Given the description of an element on the screen output the (x, y) to click on. 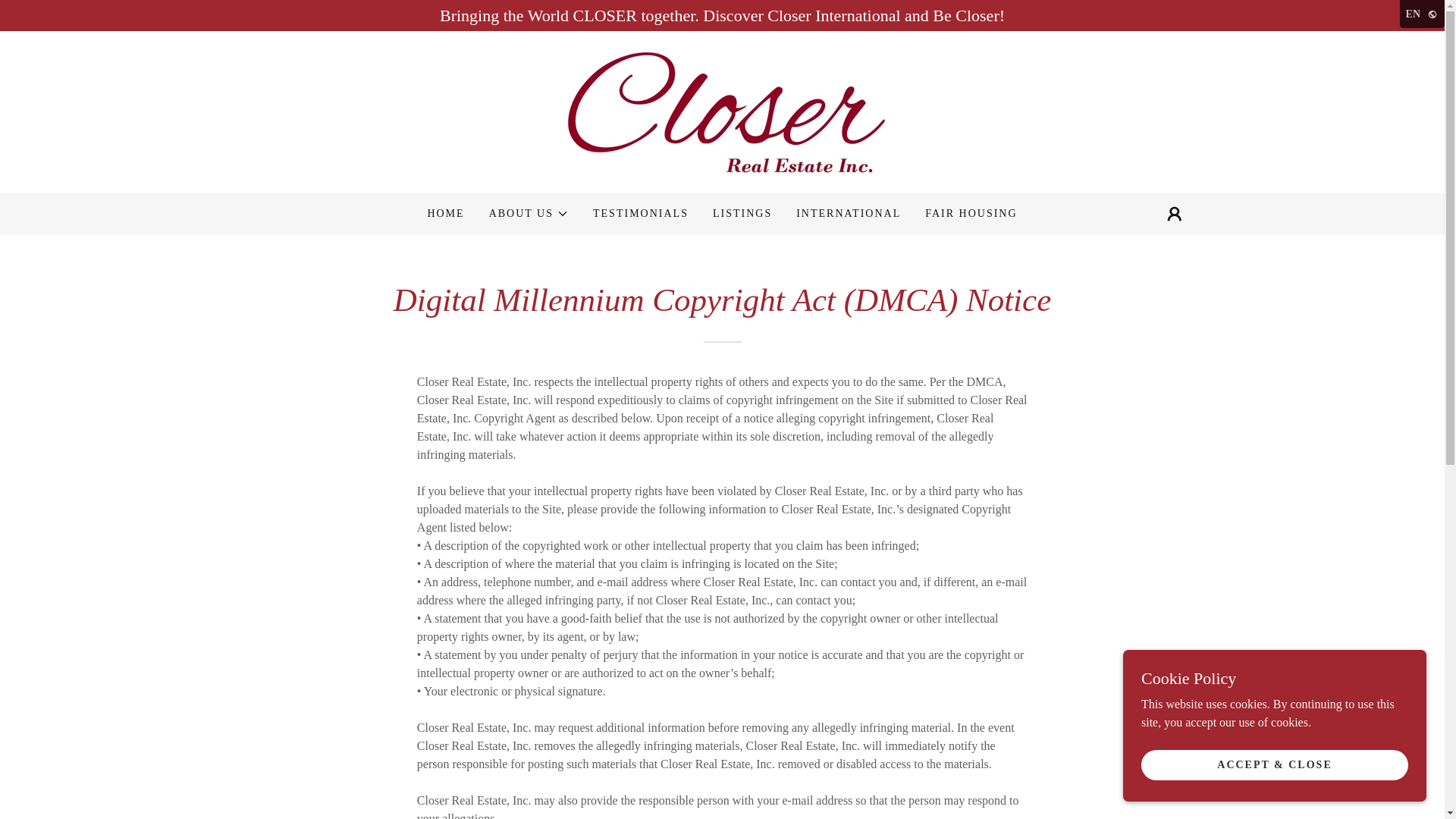
FAIR HOUSING (971, 213)
LISTINGS (741, 213)
CLOSER (722, 110)
HOME (445, 213)
INTERNATIONAL (848, 213)
ABOUT US (529, 213)
TESTIMONIALS (640, 213)
